Given the description of an element on the screen output the (x, y) to click on. 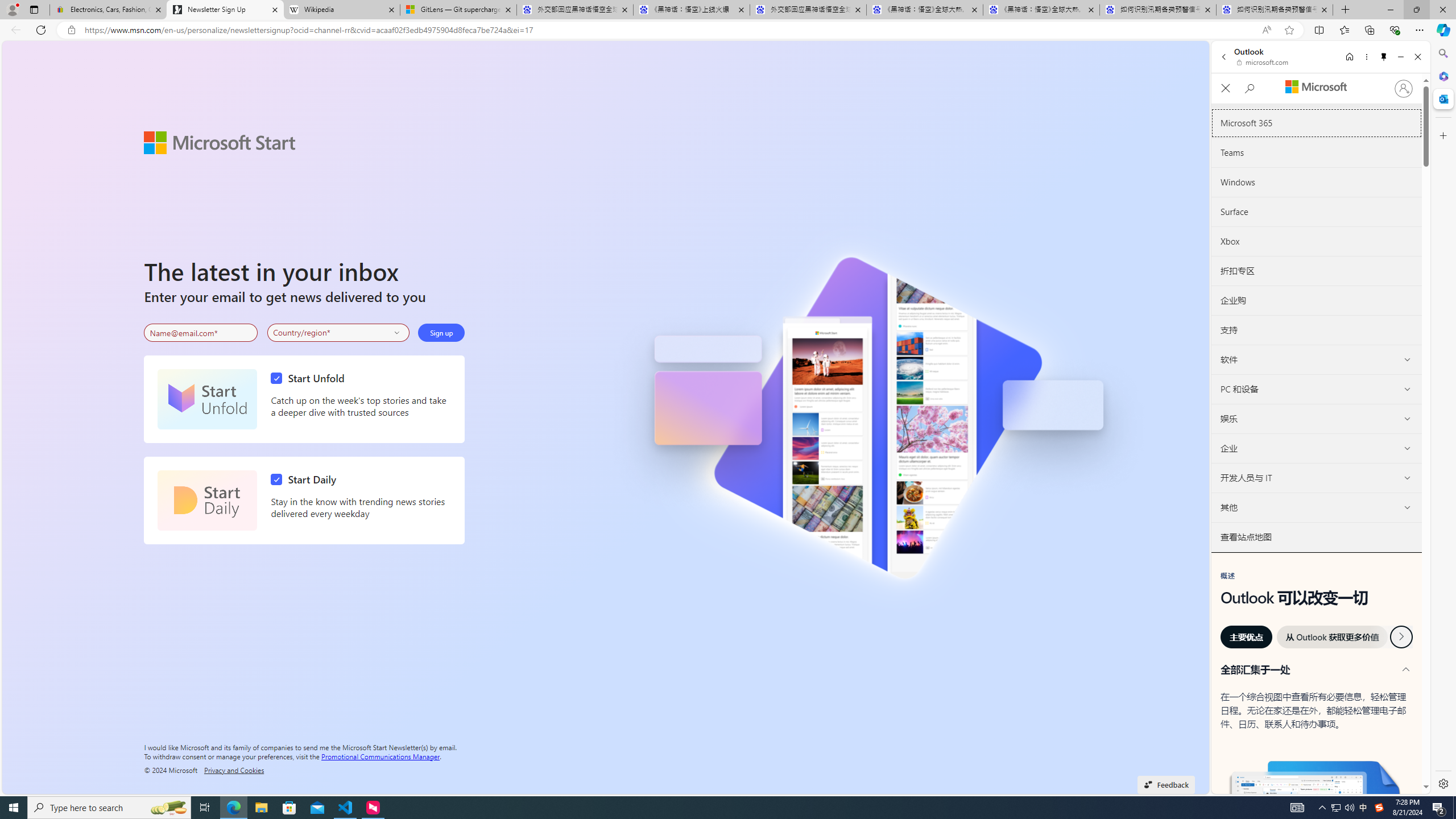
Start Daily (207, 500)
Xbox (1316, 241)
